Given the description of an element on the screen output the (x, y) to click on. 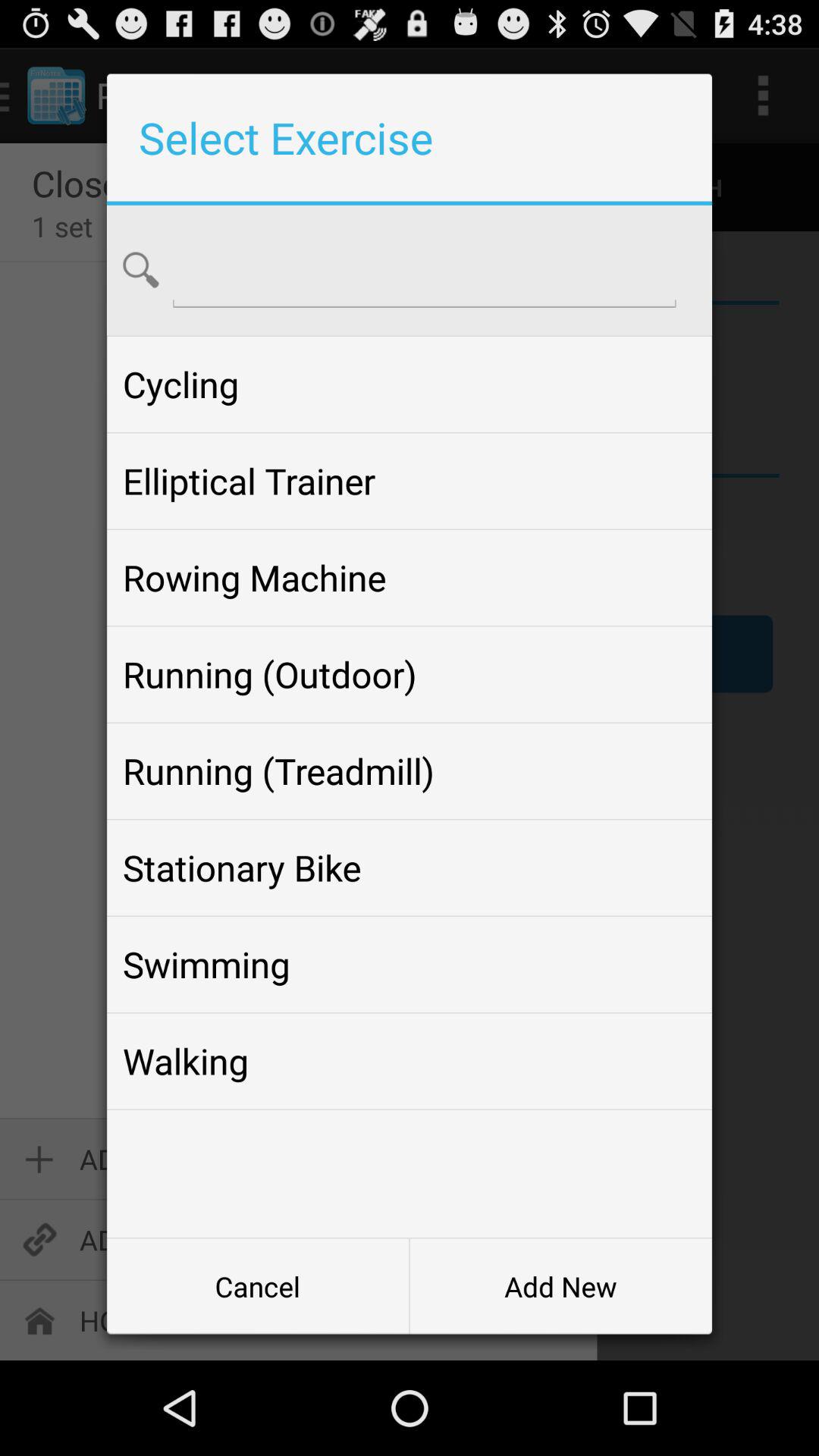
select the icon above walking (409, 964)
